Given the description of an element on the screen output the (x, y) to click on. 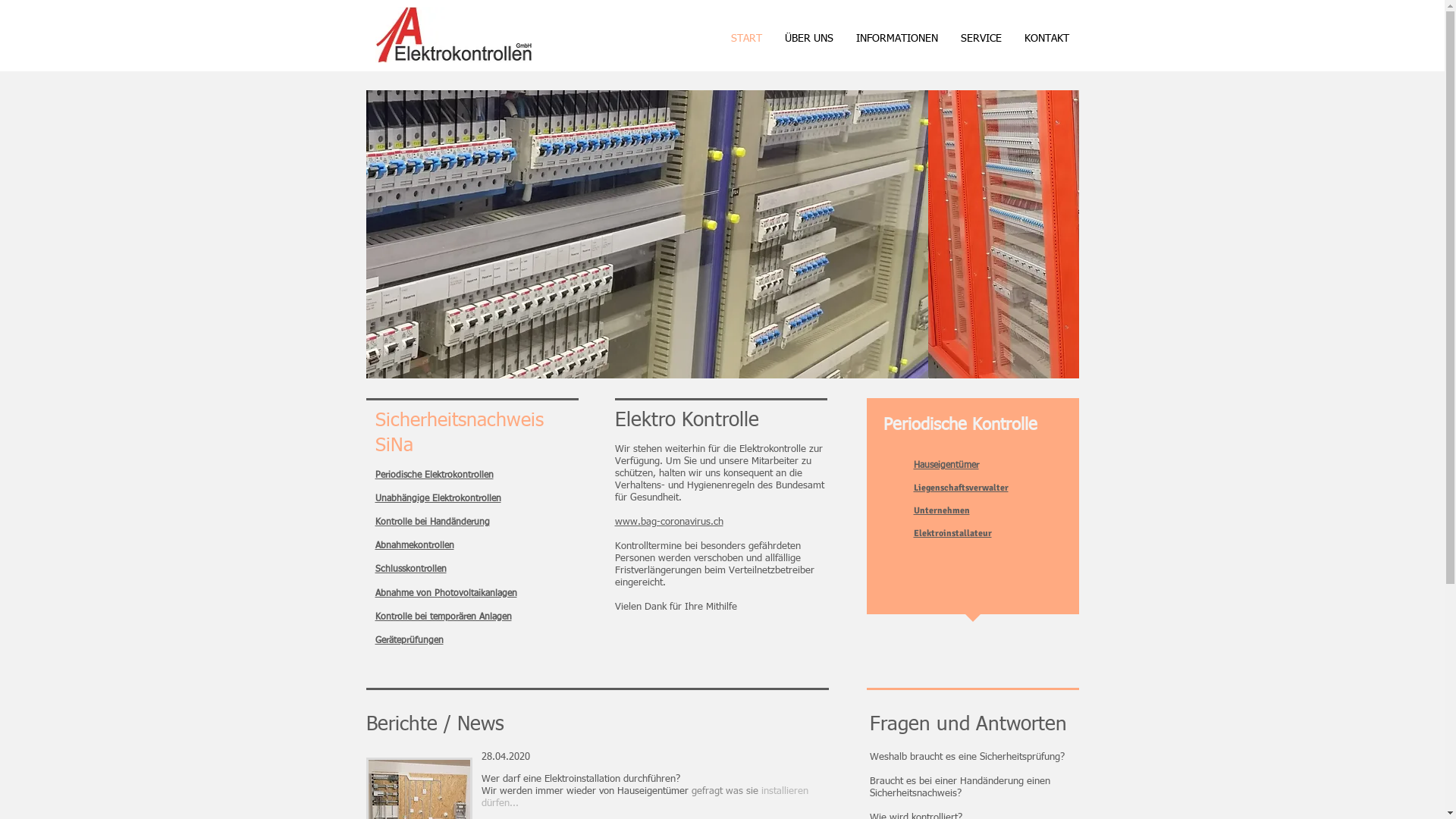
Liegenschaftsverwalter Element type: text (960, 487)
Schlusskontrollen Element type: text (409, 569)
KONTAKT Element type: text (1046, 39)
www.bag-coronavirus.ch Element type: text (668, 522)
Unternehmen Element type: text (941, 510)
Periodische Elektrokontrollen Element type: text (433, 475)
START Element type: text (745, 39)
Elektroinstallateur Element type: text (952, 533)
Abnahme von Photovoltaikanlagen Element type: text (445, 593)
Abnahmekontrollen Element type: text (413, 545)
